Given the description of an element on the screen output the (x, y) to click on. 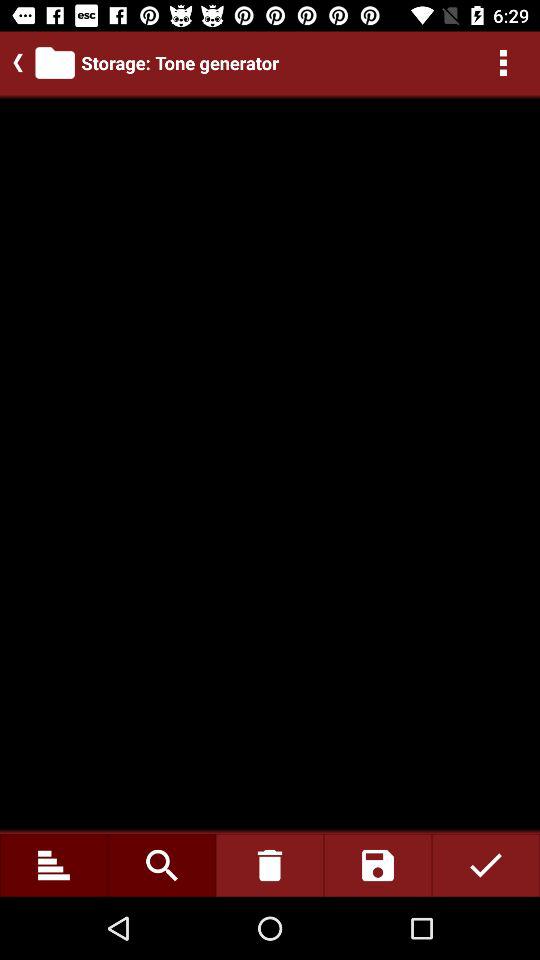
tap item at the center (270, 463)
